Given the description of an element on the screen output the (x, y) to click on. 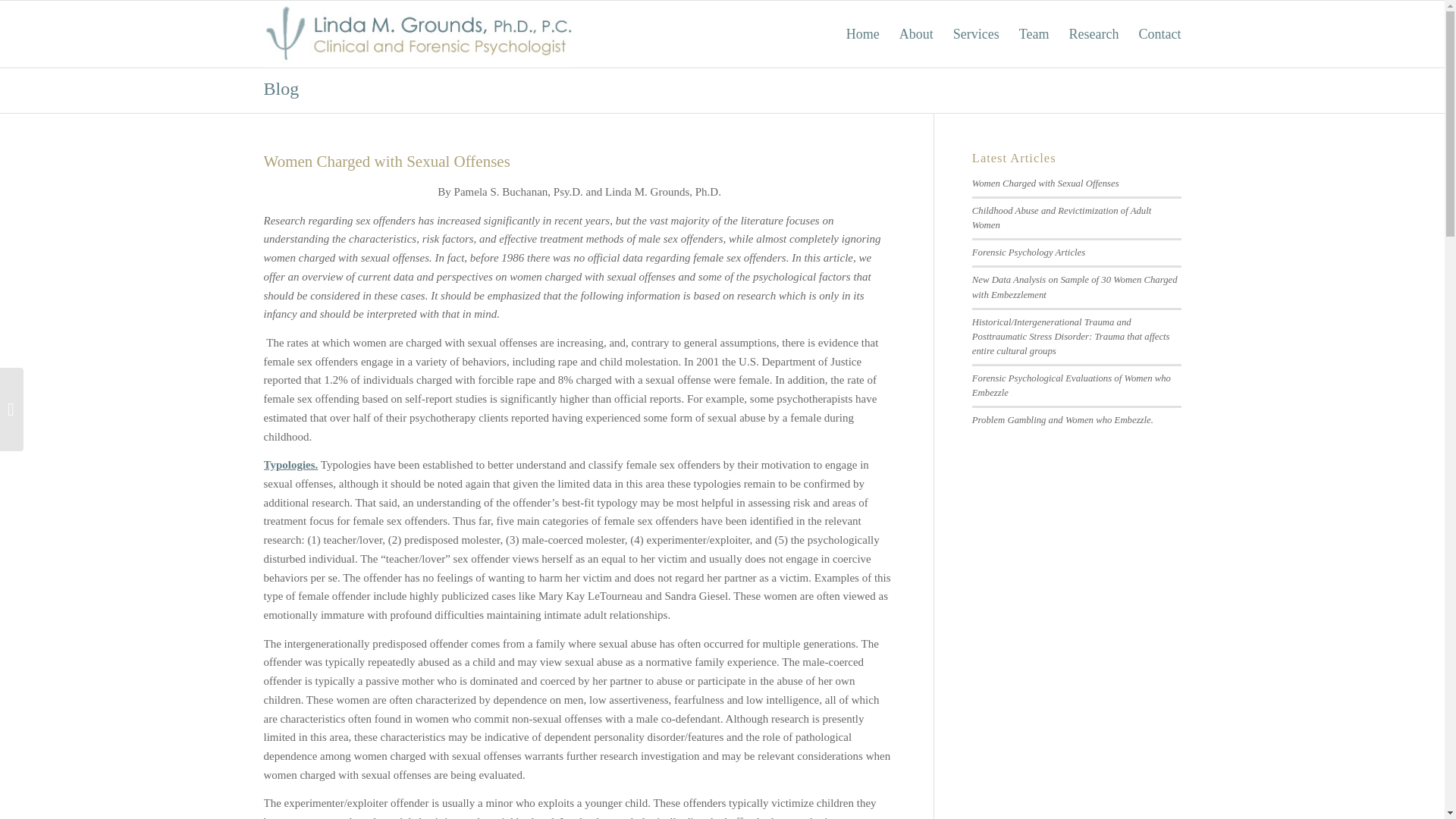
Permanent Link: Blog (281, 88)
Problem Gambling and Women who Embezzle. (1062, 419)
Forensic Psychology Articles (1028, 252)
Research (1094, 33)
Forensic Psychological Evaluations of Women who Embezzle (1071, 385)
Blog (281, 88)
Women Charged with Sexual Offenses (387, 161)
Permanent Link: Women Charged with Sexual Offenses (387, 161)
Services (976, 33)
Childhood Abuse and Revictimization of Adult Women (1061, 217)
Women Charged with Sexual Offenses (1045, 183)
